Given the description of an element on the screen output the (x, y) to click on. 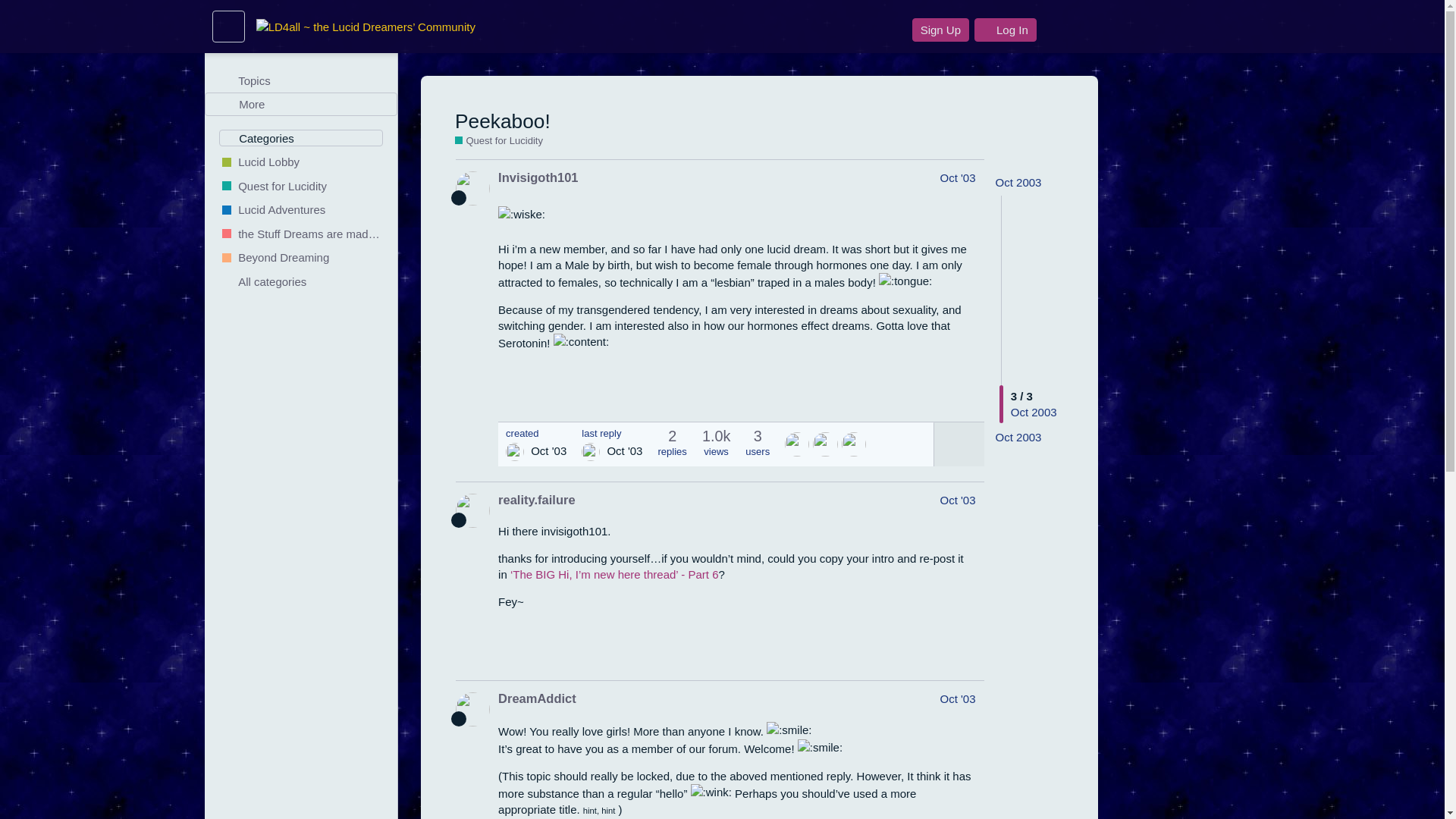
Oct 2003 (1018, 437)
More (301, 104)
last reply (611, 433)
New member (458, 197)
Peekaboo! (502, 120)
Sign Up (940, 29)
Keyboard Shortcuts (378, 805)
Everything to do while lucid is discussed here. (301, 209)
Categories (301, 137)
Beyond Dreaming (301, 257)
Oct 18, 2003 10:05 am (1018, 436)
Oct '03 (957, 177)
Toggle section (301, 137)
Quest for Lucidity (301, 185)
Invisigoth101 (537, 177)
